Given the description of an element on the screen output the (x, y) to click on. 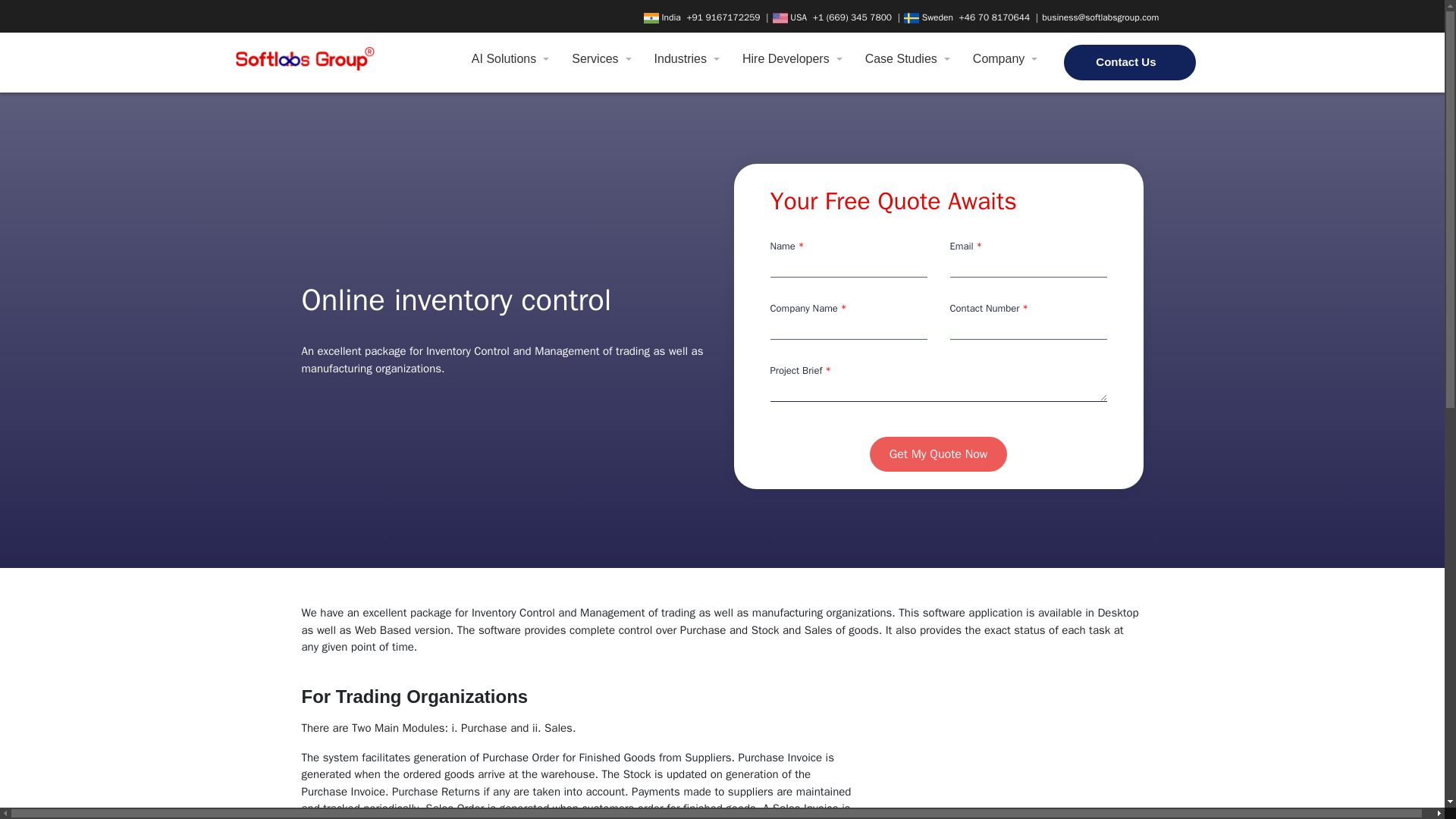
Sweden (929, 17)
Services (598, 58)
India (663, 17)
AI Solutions (507, 58)
Get My Quote Now (938, 453)
USA (791, 17)
